Given the description of an element on the screen output the (x, y) to click on. 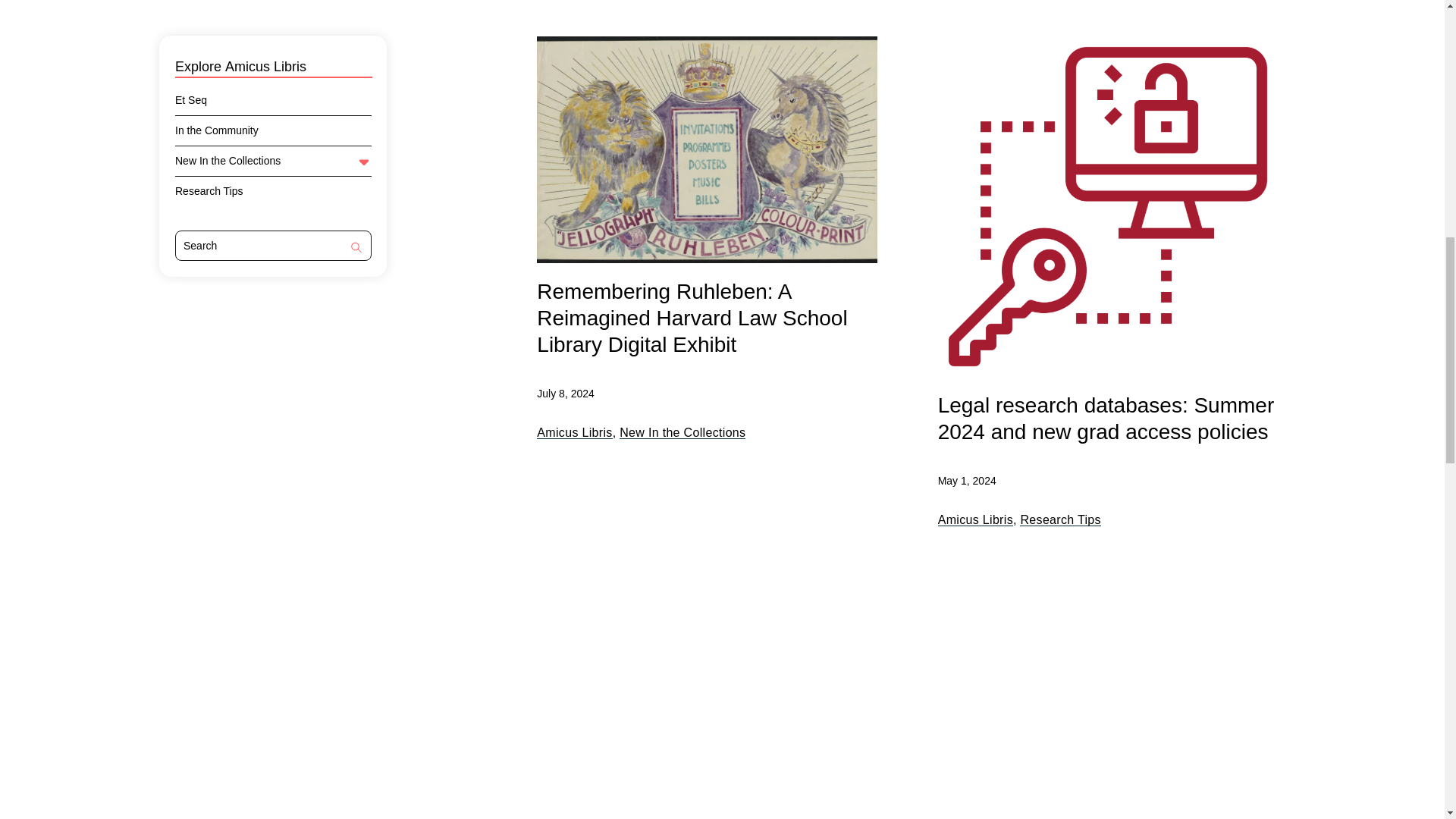
Search (356, 248)
